Given the description of an element on the screen output the (x, y) to click on. 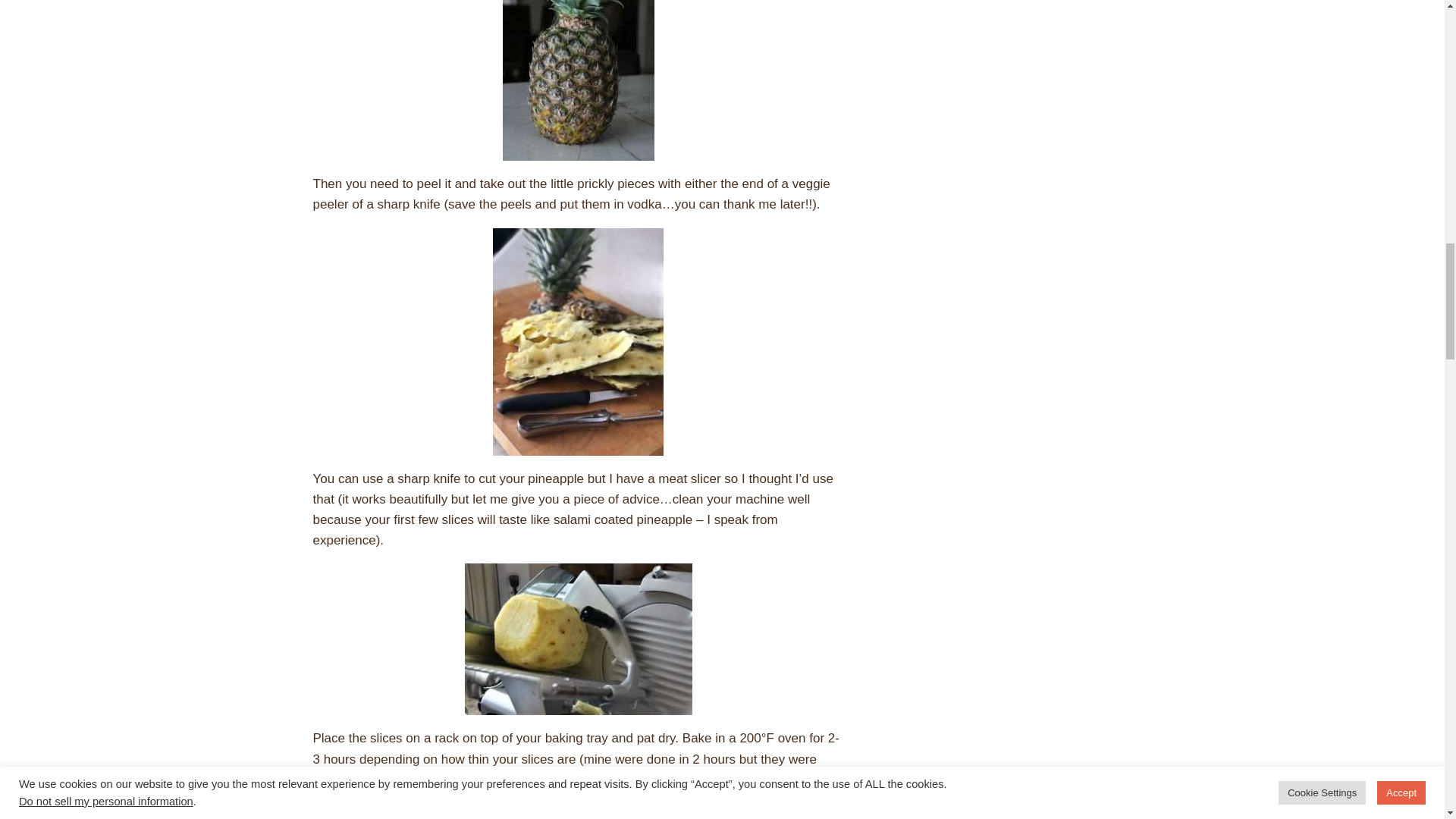
How to Make Dried Pineapple Flowers (577, 80)
How to Make Dried Pineapple Flowers (578, 638)
How to Make Dried Pineapple Flowers (578, 811)
